Given the description of an element on the screen output the (x, y) to click on. 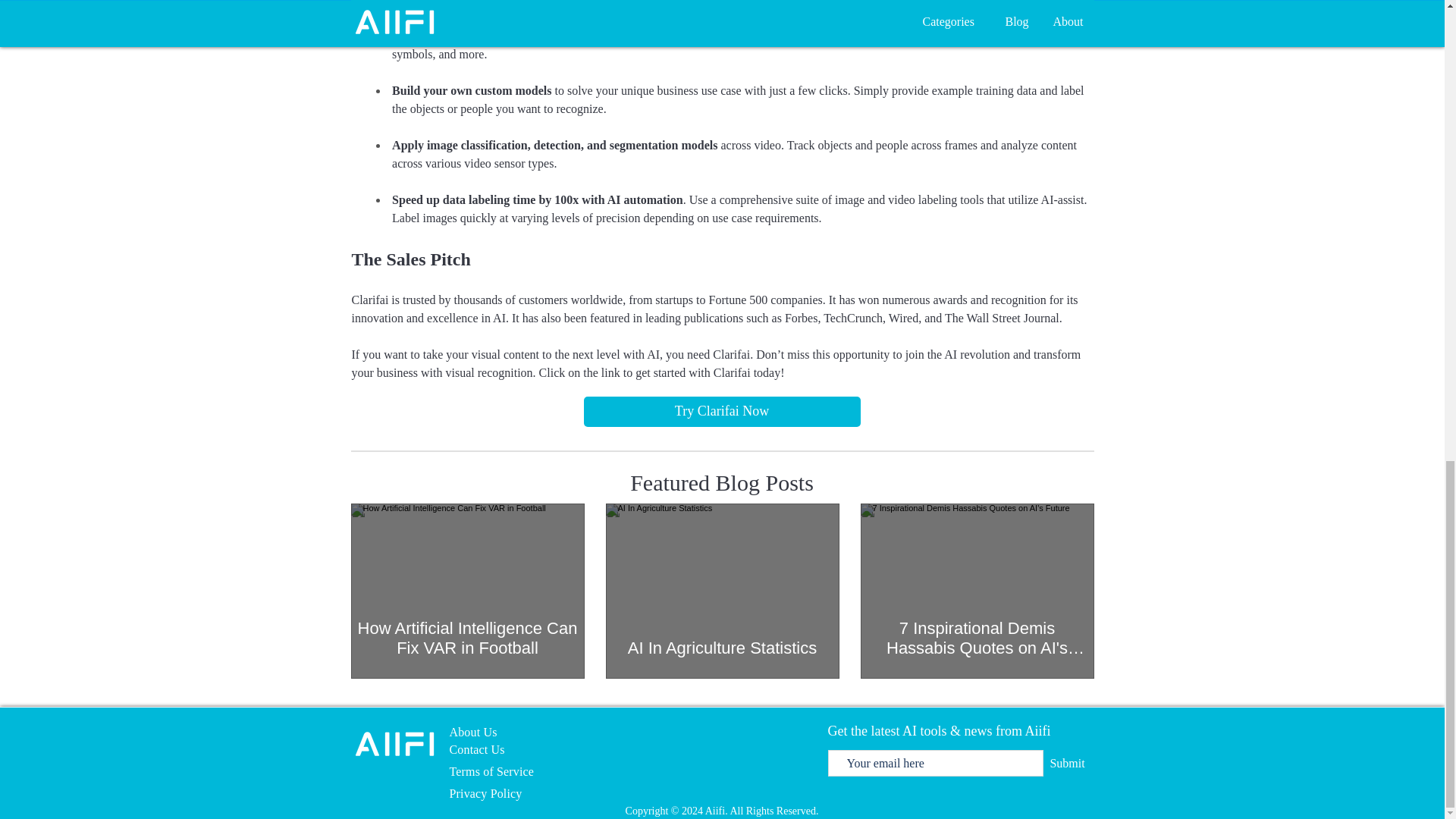
Submit (1067, 763)
Terms of Service (491, 771)
How Artificial Intelligence Can Fix VAR in Football (467, 638)
AI In Agriculture Statistics (722, 648)
7 Inspirational Demis Hassabis Quotes on AI's Future (976, 638)
About Us (472, 731)
Contact Us (475, 748)
Try Clarifai Now (721, 411)
Privacy Policy (484, 793)
